Given the description of an element on the screen output the (x, y) to click on. 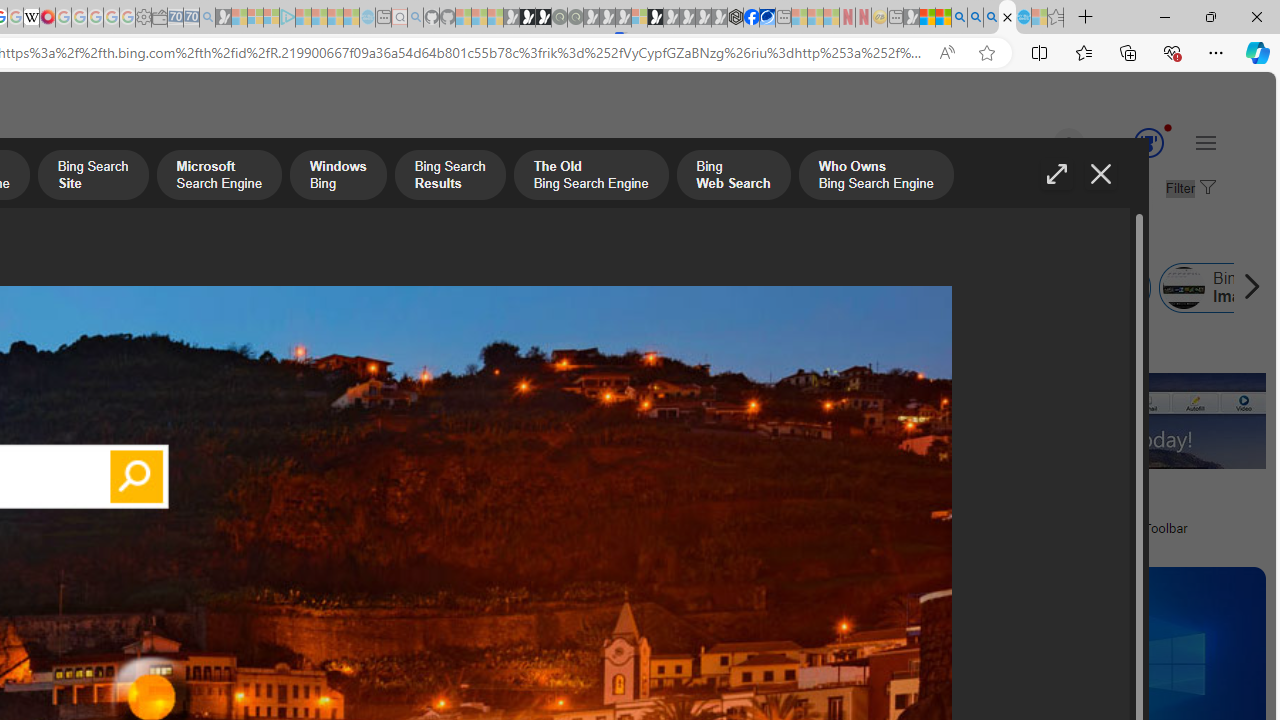
Favorites - Sleeping (1055, 17)
Bing Bar Toolbar (561, 287)
Microsoft Search Engine (218, 177)
Bing Menu Bar (1076, 287)
Image result for Bing Search Bar Install (1104, 421)
Bing Search Bar App (376, 287)
